Given the description of an element on the screen output the (x, y) to click on. 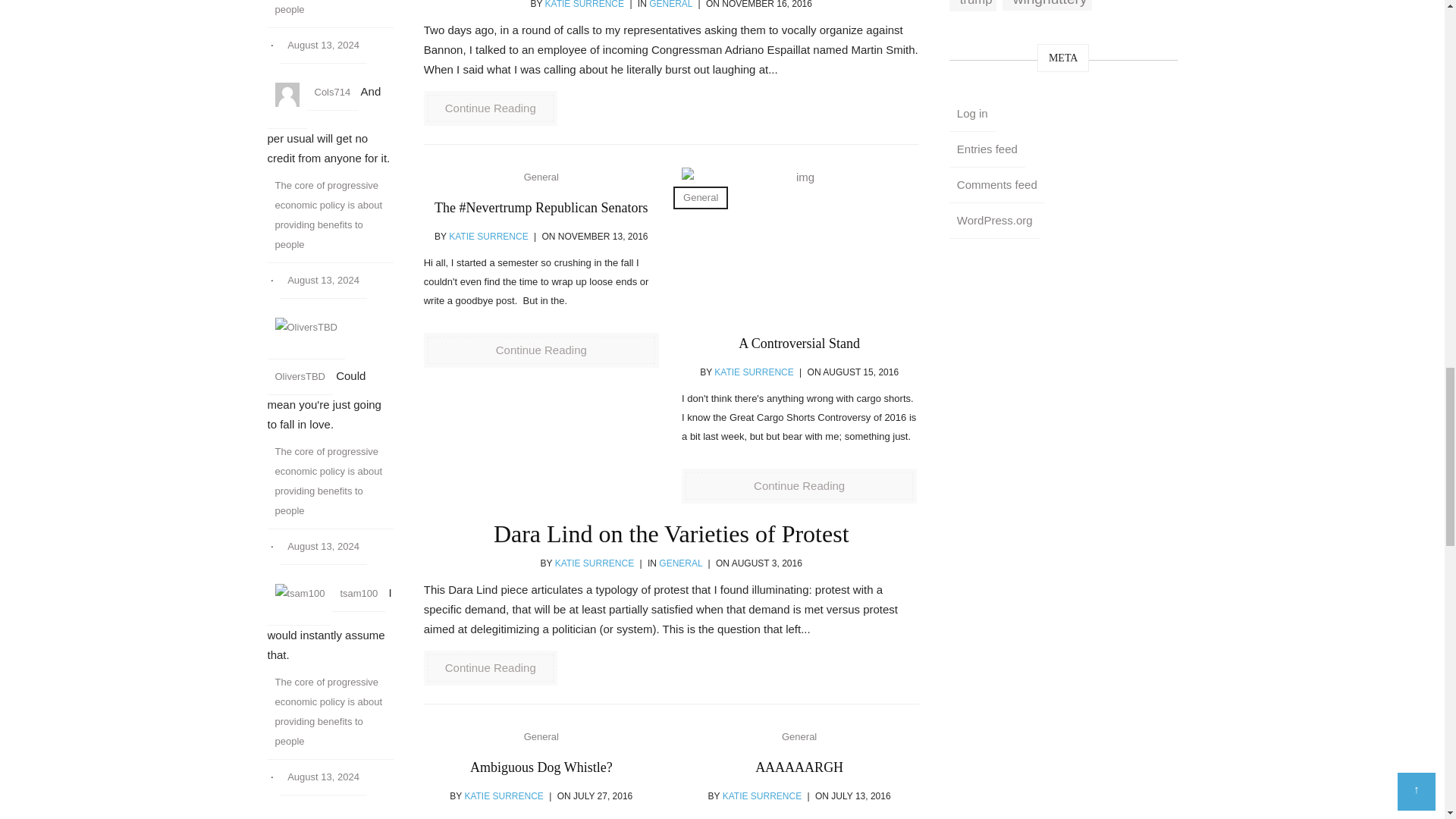
Posts by Katie Surrence (753, 371)
Posts by Katie Surrence (584, 4)
A Controversial Stand (799, 242)
Posts by Katie Surrence (503, 796)
Posts by Katie Surrence (762, 796)
Posts by Katie Surrence (487, 235)
Posts by Katie Surrence (593, 562)
